Given the description of an element on the screen output the (x, y) to click on. 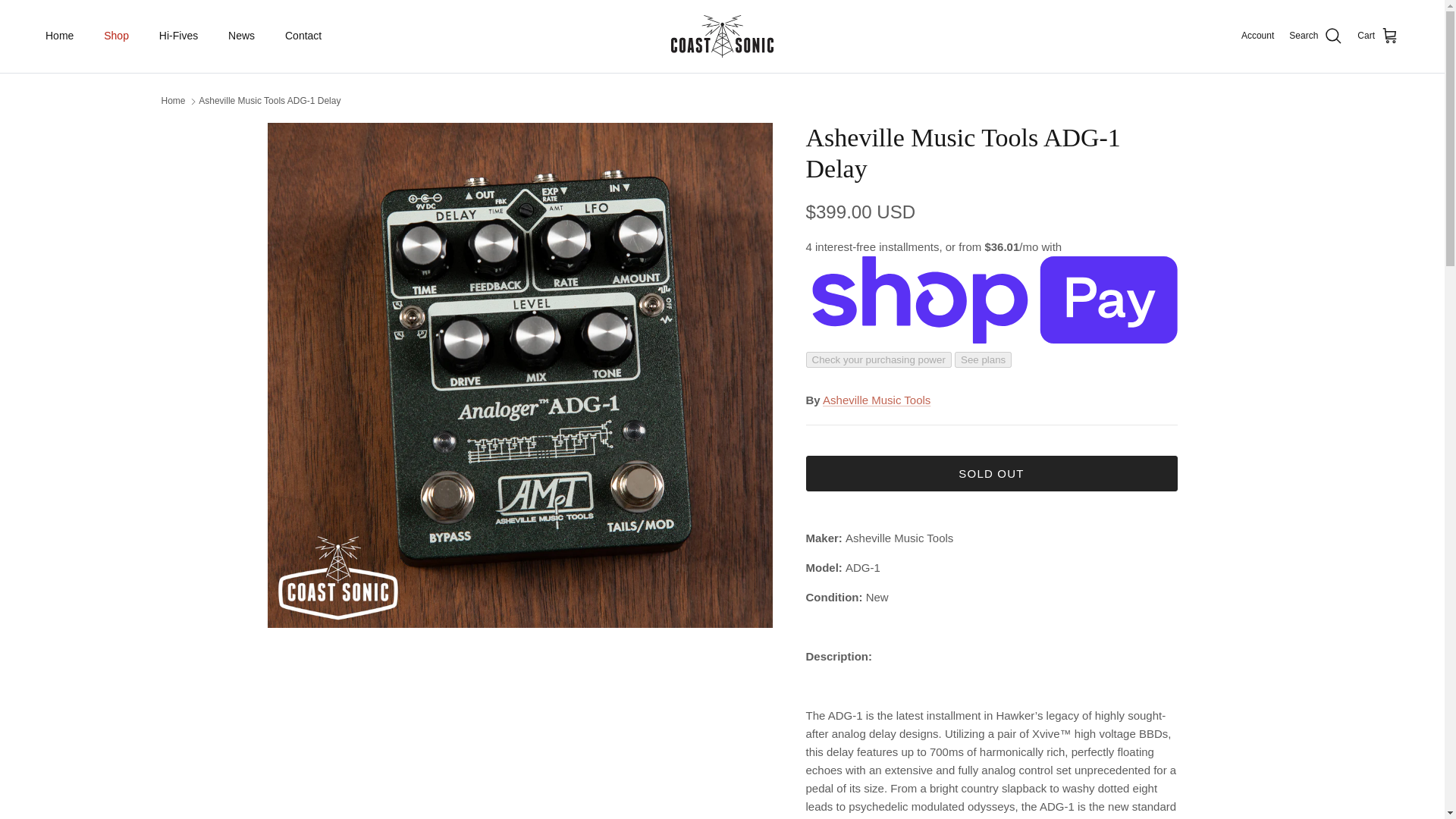
Cart (1377, 35)
SOLD OUT (990, 473)
Asheville Music Tools ADG-1 Delay (269, 100)
Home (59, 35)
News (240, 35)
Contact (302, 35)
Shop (116, 35)
Home (172, 100)
Coast Sonic (722, 36)
Hi-Fives (178, 35)
